Given the description of an element on the screen output the (x, y) to click on. 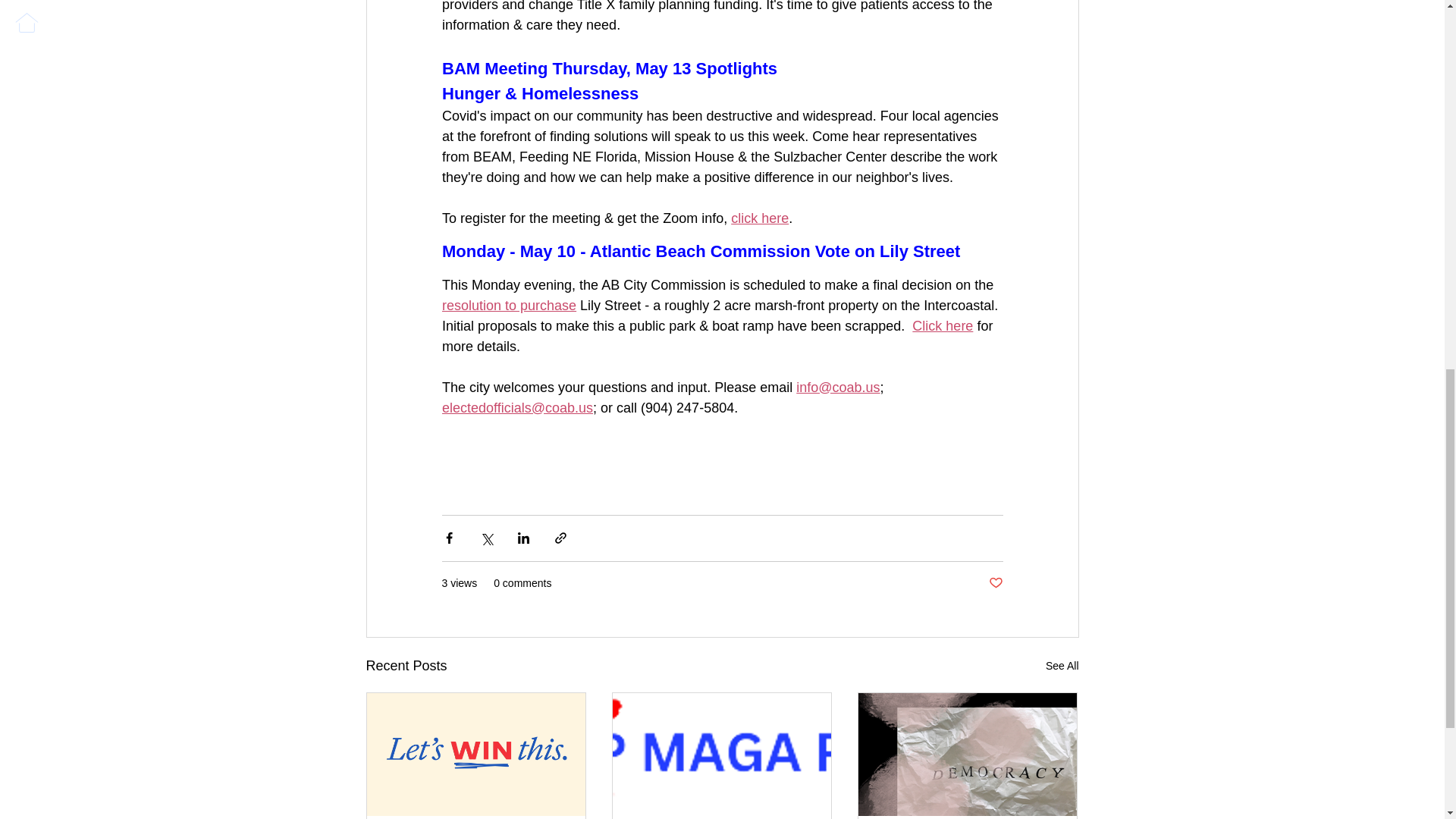
Post not marked as liked (995, 582)
See All (1061, 666)
click here (759, 218)
resolution to purchase (508, 304)
Click here (942, 325)
